Given the description of an element on the screen output the (x, y) to click on. 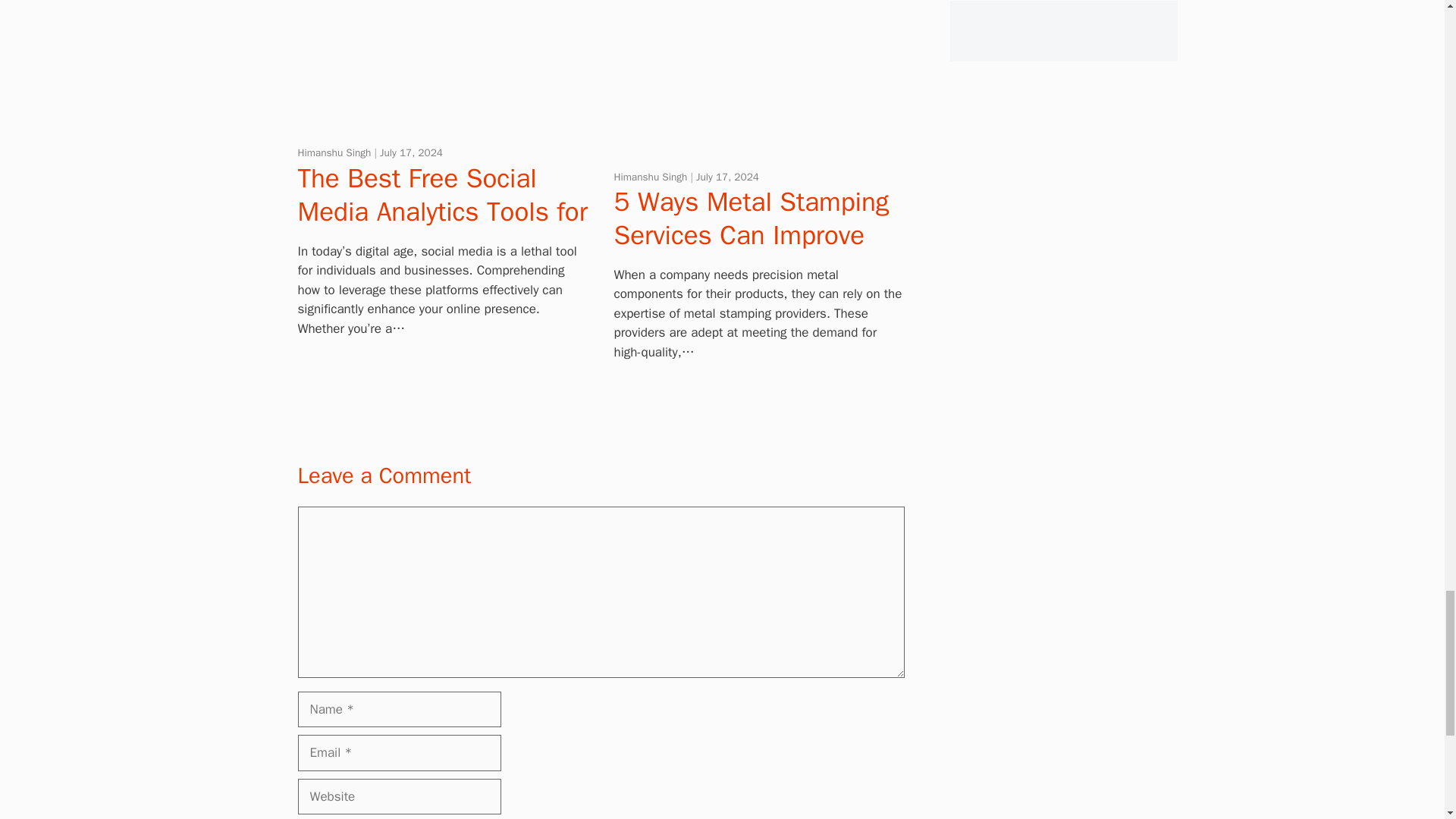
The Best Free Social Media Analytics Tools for Beginners (441, 211)
View all posts by Himanshu Singh (335, 152)
10:25 pm (411, 152)
